Given the description of an element on the screen output the (x, y) to click on. 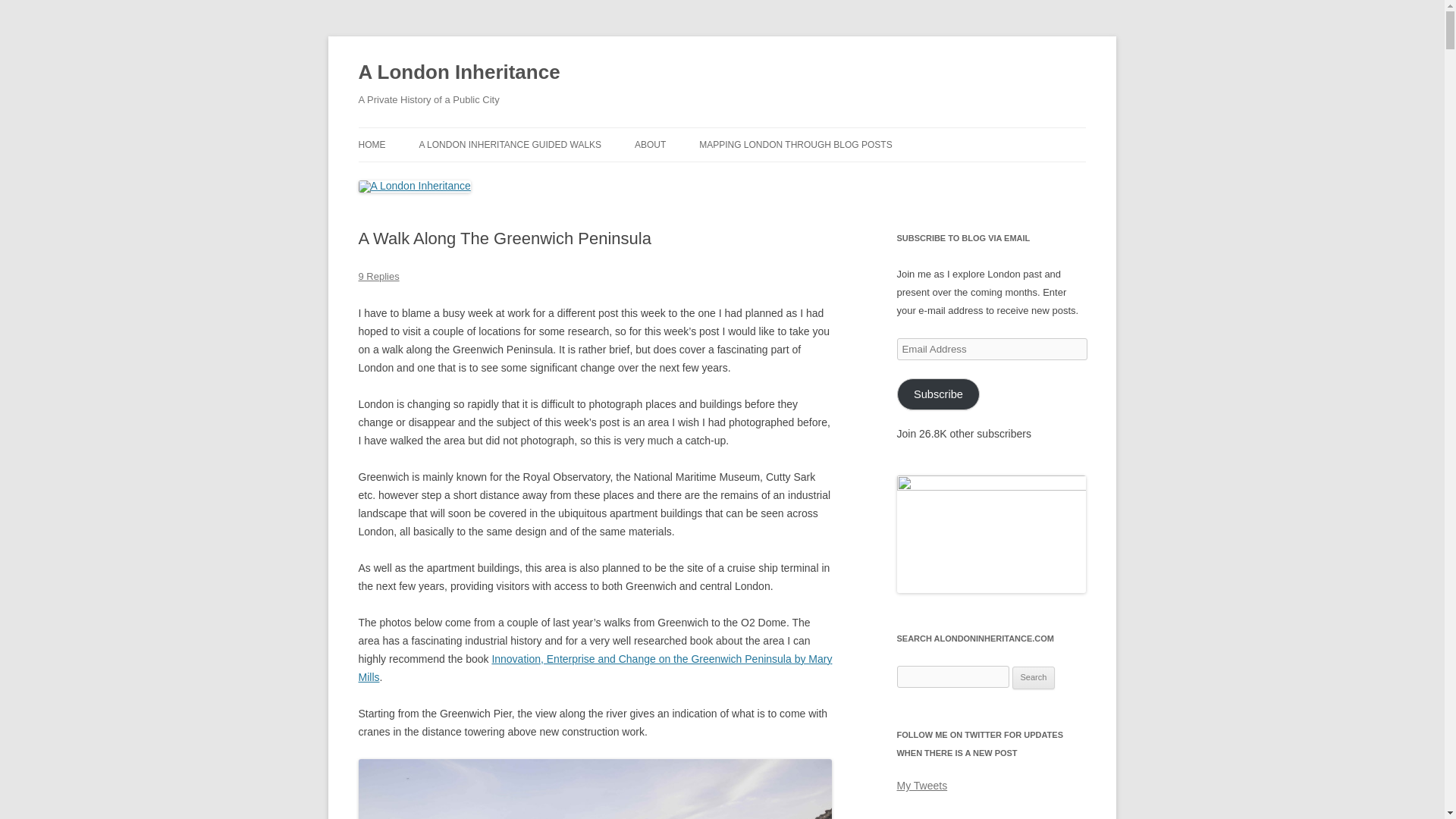
ABOUT (649, 144)
9 Replies (378, 276)
Search (1033, 677)
A London Inheritance (458, 72)
A London Inheritance (458, 72)
MAPPING LONDON THROUGH BLOG POSTS (794, 144)
A MAP OF ALL MY BLOG POSTS (774, 176)
A LONDON INHERITANCE GUIDED WALKS (510, 144)
